Given the description of an element on the screen output the (x, y) to click on. 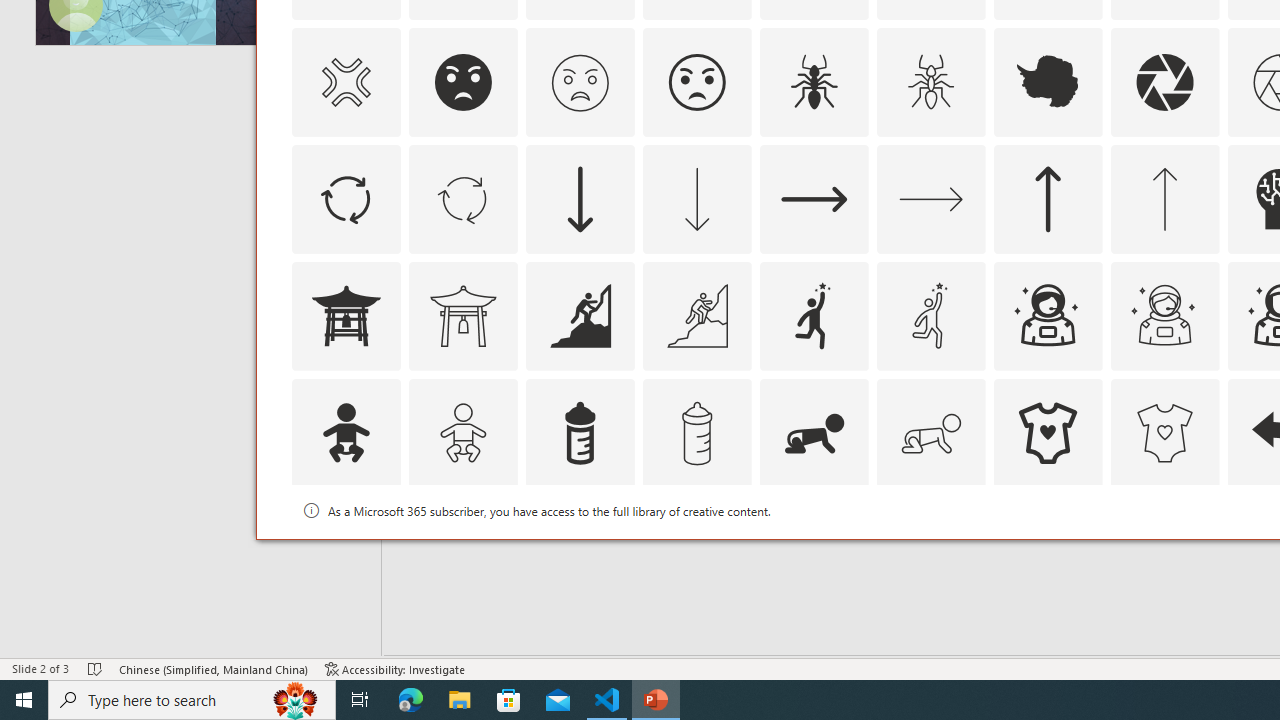
AutomationID: Icons_Badge2 (463, 550)
AutomationID: Icons_Antarctica (1048, 82)
AutomationID: Icons_AstronautFemale (1048, 316)
AutomationID: Icons_AngerSymbol_M (345, 82)
AutomationID: Icons_AsianTemple1 (345, 316)
